Given the description of an element on the screen output the (x, y) to click on. 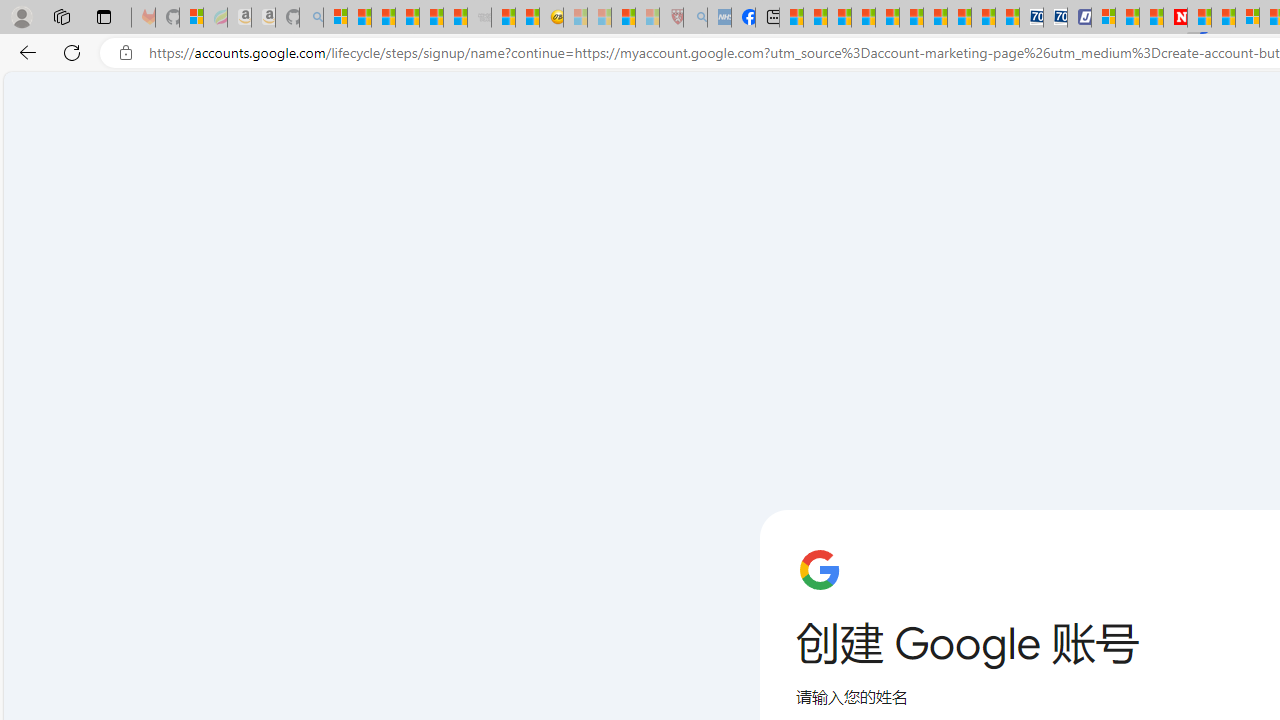
Climate Damage Becomes Too Severe To Reverse (863, 17)
